Given the description of an element on the screen output the (x, y) to click on. 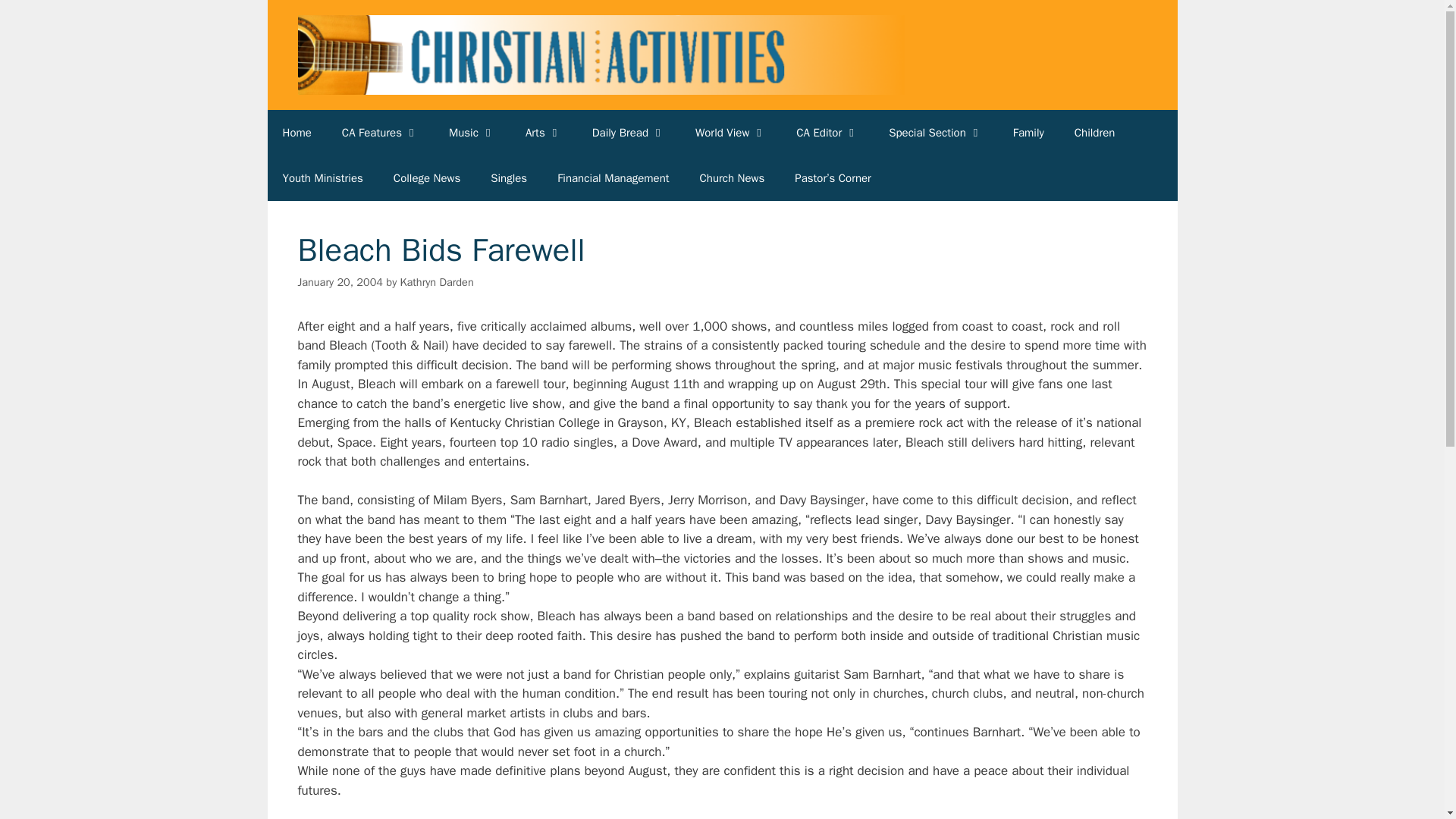
View all posts by Kathryn Darden (437, 282)
Daily Bread (627, 132)
Special Section (935, 132)
Singles (508, 177)
CA Editor (826, 132)
CA Features (379, 132)
Home (296, 132)
Youth Ministries (321, 177)
College News (427, 177)
Music (472, 132)
